Given the description of an element on the screen output the (x, y) to click on. 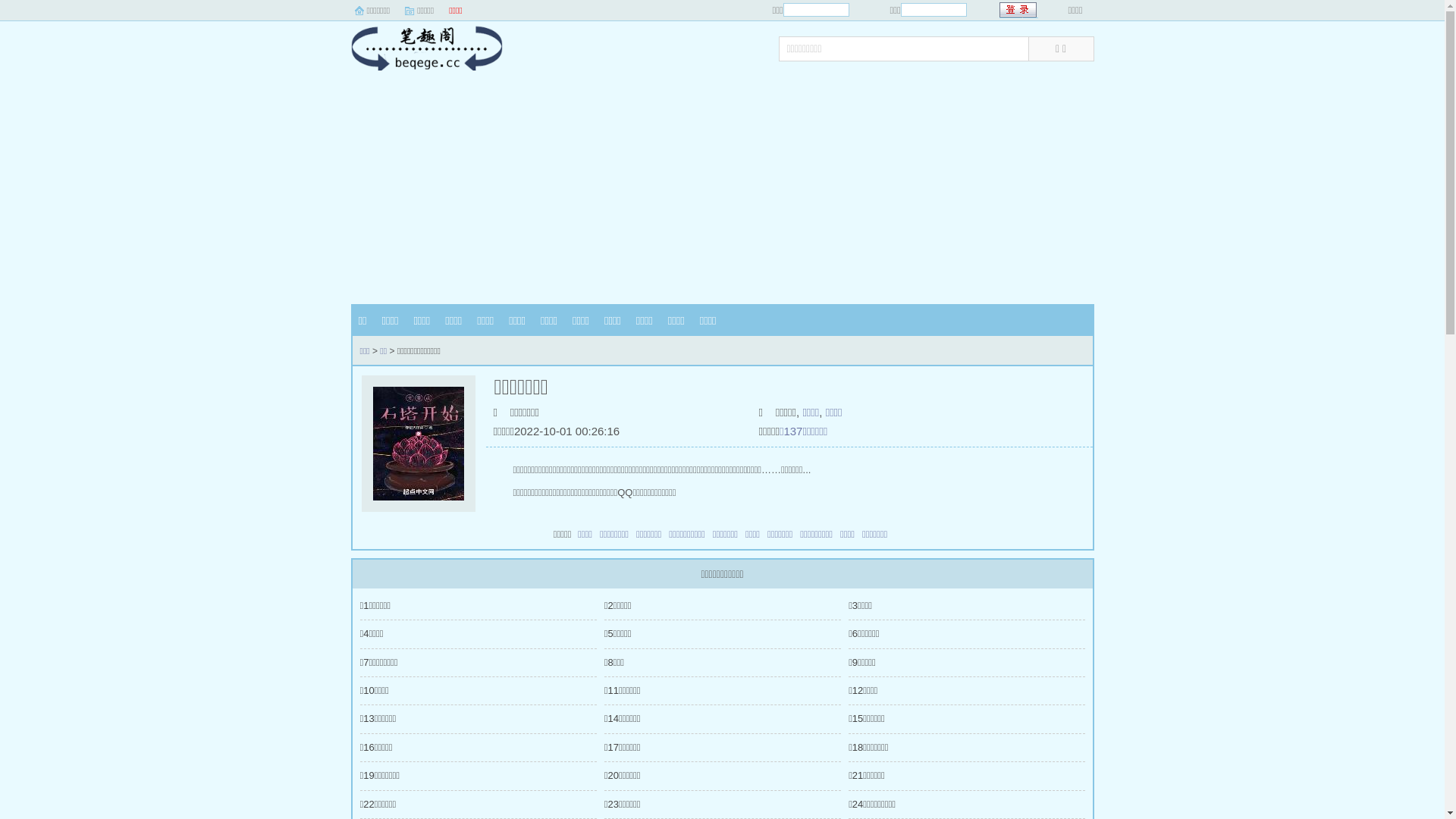
Advertisement Element type: hover (721, 190)
